Given the description of an element on the screen output the (x, y) to click on. 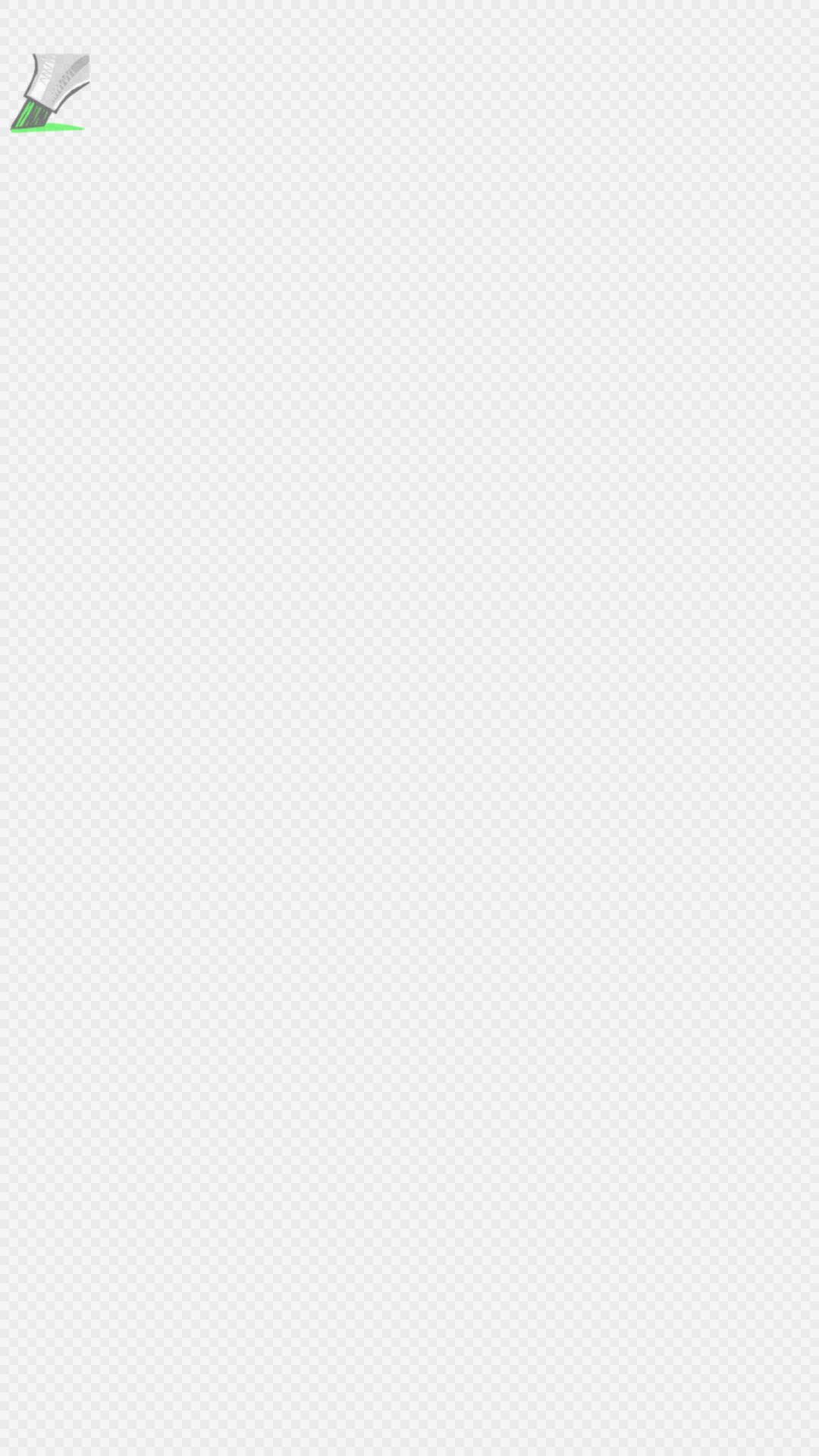
choose the item at the top left corner (47, 95)
